Given the description of an element on the screen output the (x, y) to click on. 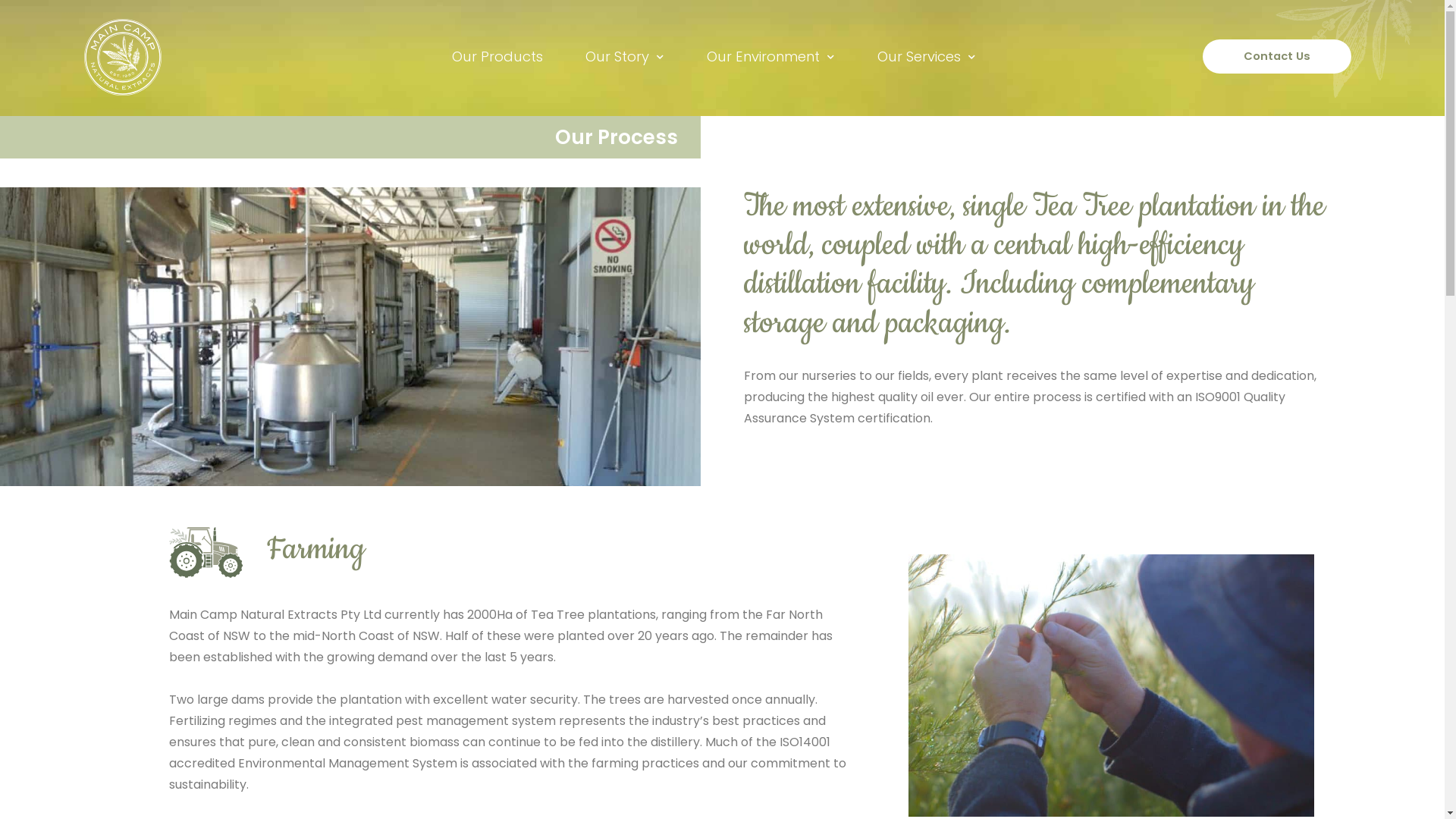
Our Products Element type: text (497, 56)
Our Story Element type: text (624, 56)
Our Services Element type: text (926, 56)
Contact Us Element type: text (1276, 56)
Our Environment Element type: text (770, 56)
